Given the description of an element on the screen output the (x, y) to click on. 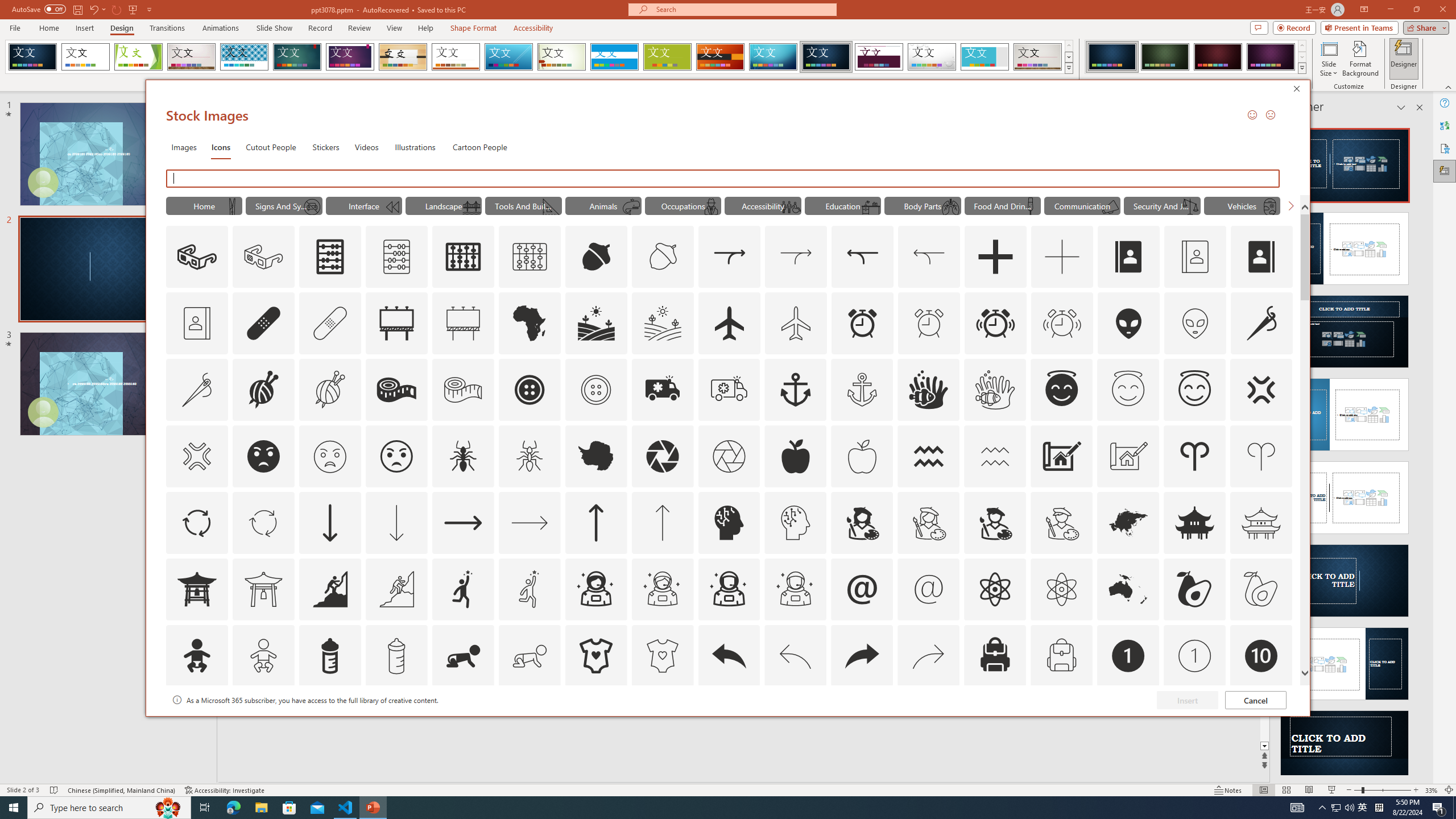
Next Search Suggestion (1290, 205)
AutomationID: Icons_Baby_M (263, 655)
AutomationID: Icons_AddressBook_RTL_M (197, 323)
Class: NetUIScrollBar (1418, 447)
AutomationID: Icons_Acquisition_LTR (729, 256)
AutomationID: Icons_Anchor_M (861, 389)
AutomationID: Icons_ArrowDown (329, 522)
AutomationID: Icons_Agriculture (596, 323)
AutomationID: Icons_Architecture_M (1128, 455)
AutomationID: Icons_AstronautFemale (595, 588)
AutomationID: Icons_Ambulance_M (729, 389)
